Given the description of an element on the screen output the (x, y) to click on. 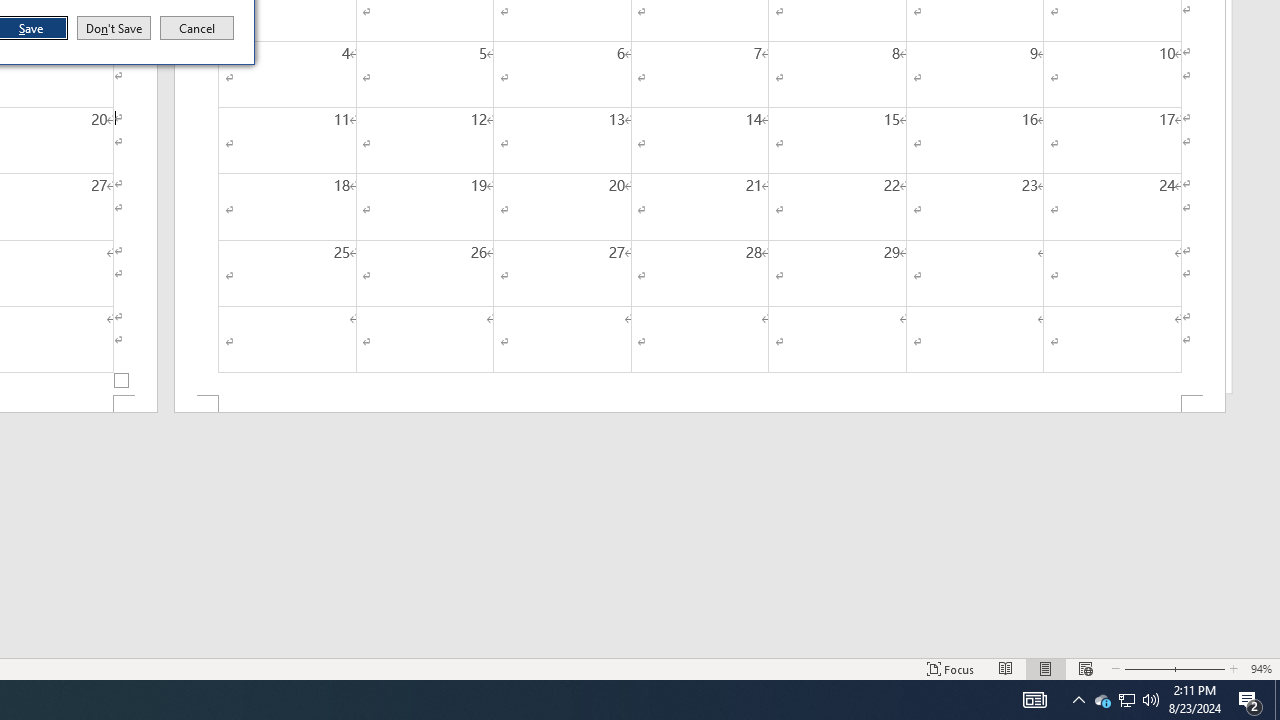
Print Layout (1046, 668)
Read Mode (1005, 668)
Cancel (1102, 699)
Zoom In (197, 27)
Web Layout (1199, 668)
Show desktop (1085, 668)
Don't Save (1277, 699)
Zoom Out (113, 27)
AutomationID: 4105 (1147, 668)
Footer -Section 2- (1034, 699)
